Given the description of an element on the screen output the (x, y) to click on. 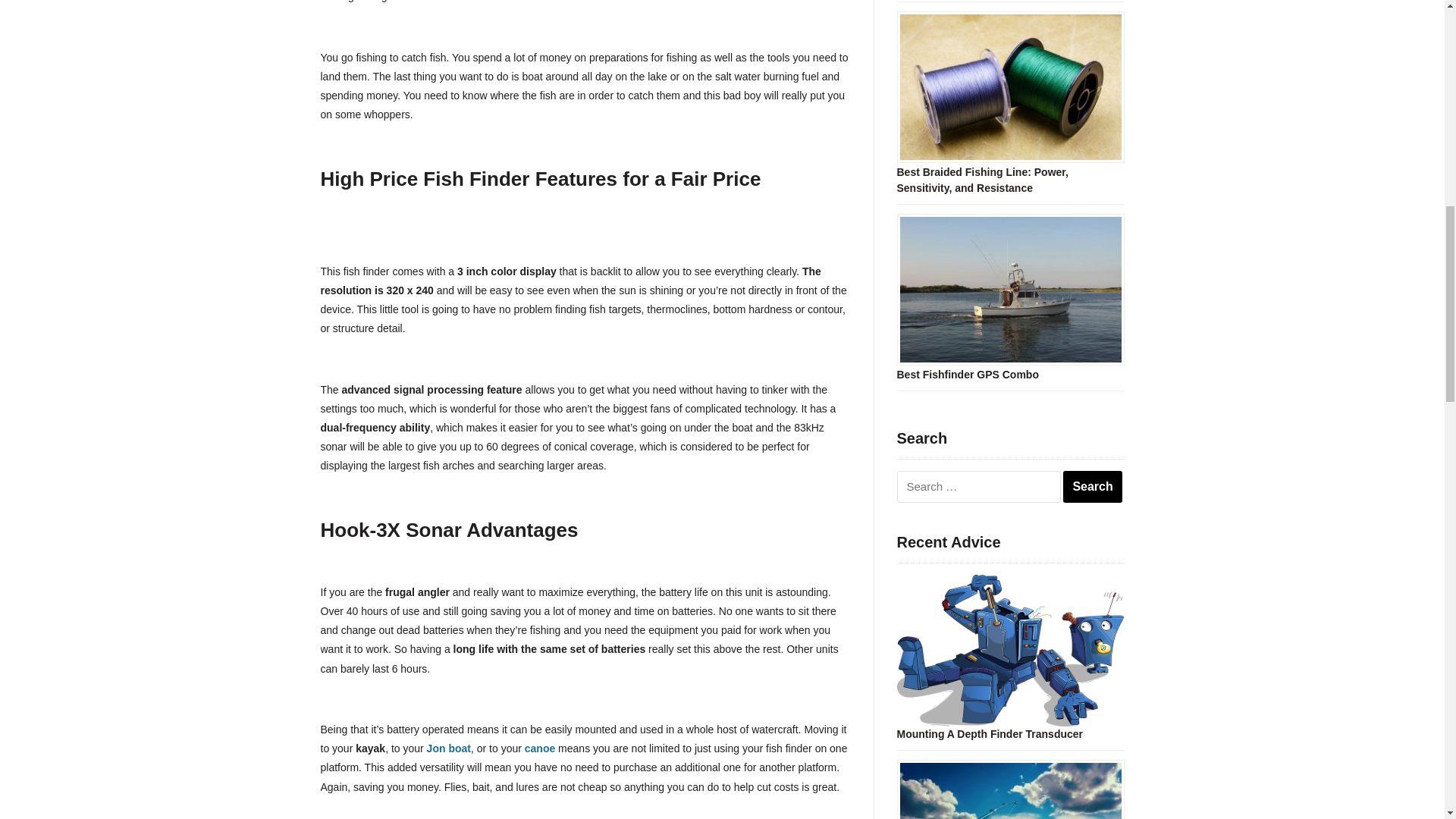
Search for: (977, 486)
Jon boat (448, 748)
Search (1091, 486)
Mounting A Depth Finder Transducer (989, 734)
Search (1091, 486)
Mounting A Depth Finder Transducer (1010, 649)
Best Fishfinder GPS Combo (967, 374)
canoe (539, 748)
Search (1091, 486)
